Given the description of an element on the screen output the (x, y) to click on. 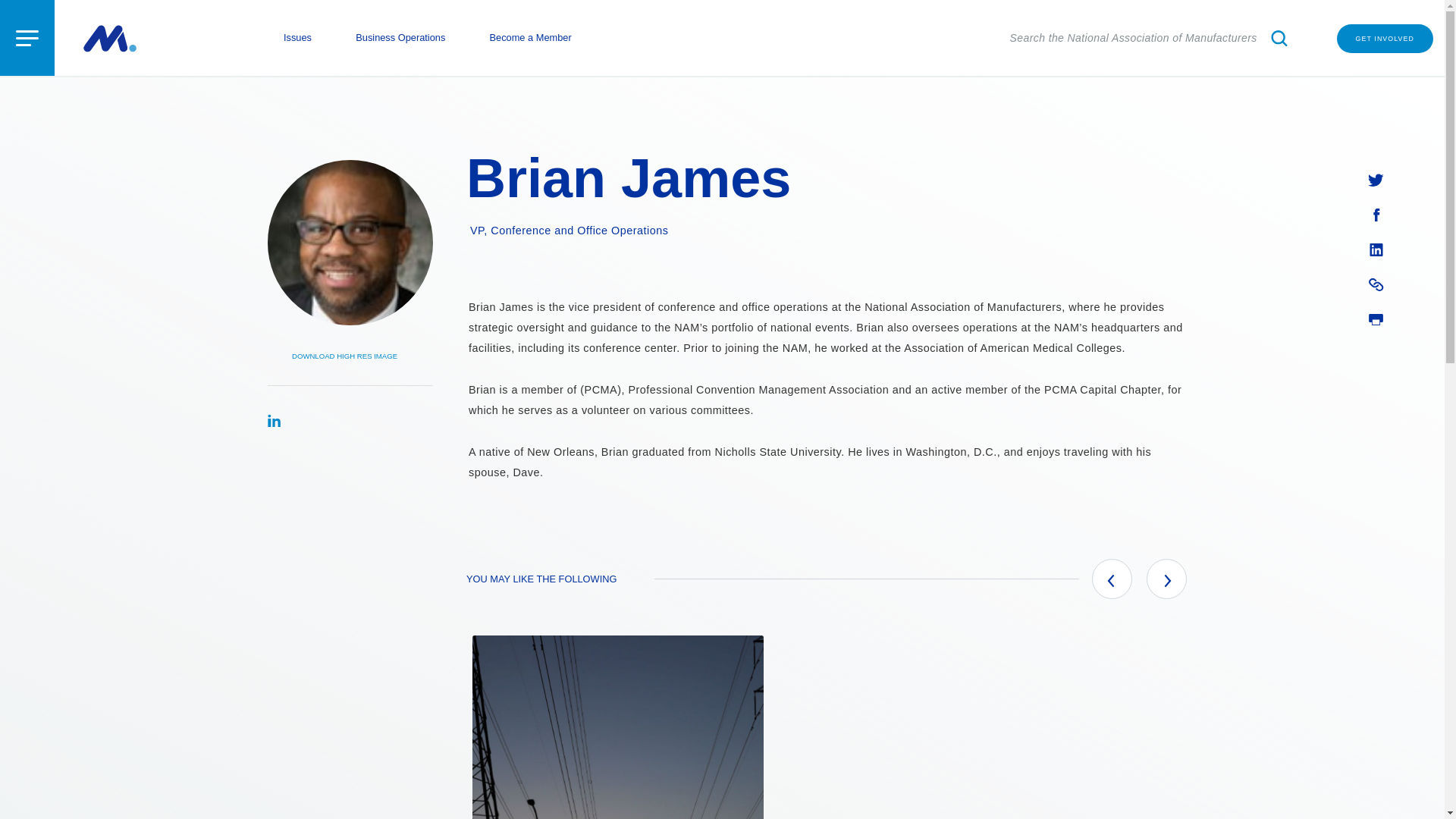
LinkedIn icon (1375, 249)
Become a Member (530, 37)
Share Link (1375, 248)
Print Page (1375, 283)
Search the National Association of Manufacturers (1375, 317)
Share on Twitter (1150, 37)
Issues (1376, 178)
Next Slide (297, 37)
Business Operations (1166, 578)
DOWNLOAD HIGH RES IMAGE (400, 37)
Previous Slide (349, 355)
GET INVOLVED (1112, 578)
